Given the description of an element on the screen output the (x, y) to click on. 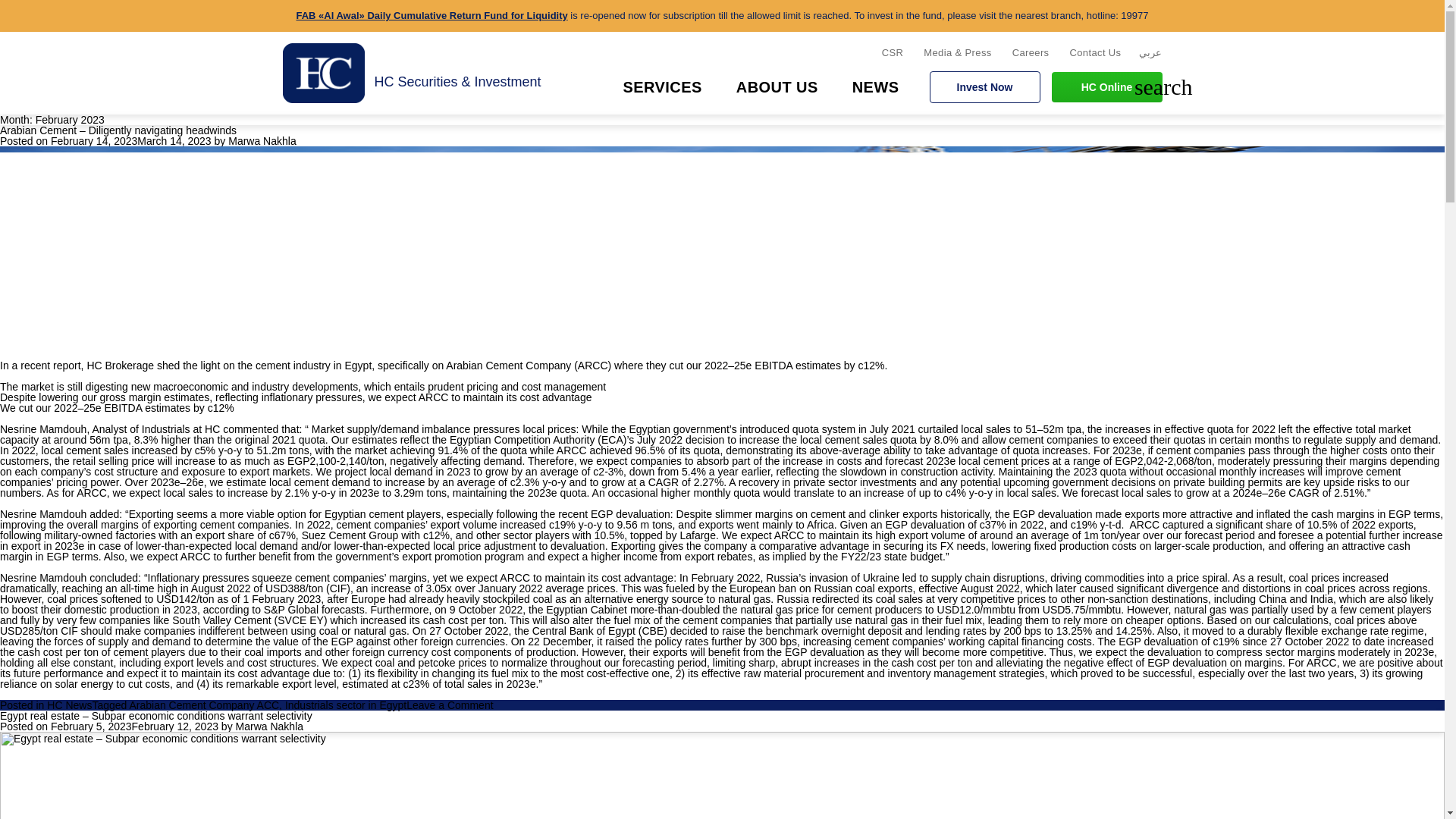
Careers (1030, 52)
Arabian Cement Company ACC (204, 705)
SERVICES (661, 86)
CSR (892, 52)
Marwa Nakhla (261, 141)
Contact Us (1094, 52)
Industrials sector in Egypt (345, 705)
ABOUT US (777, 86)
HC News (68, 705)
February 14, 2023March 14, 2023 (130, 141)
